Given the description of an element on the screen output the (x, y) to click on. 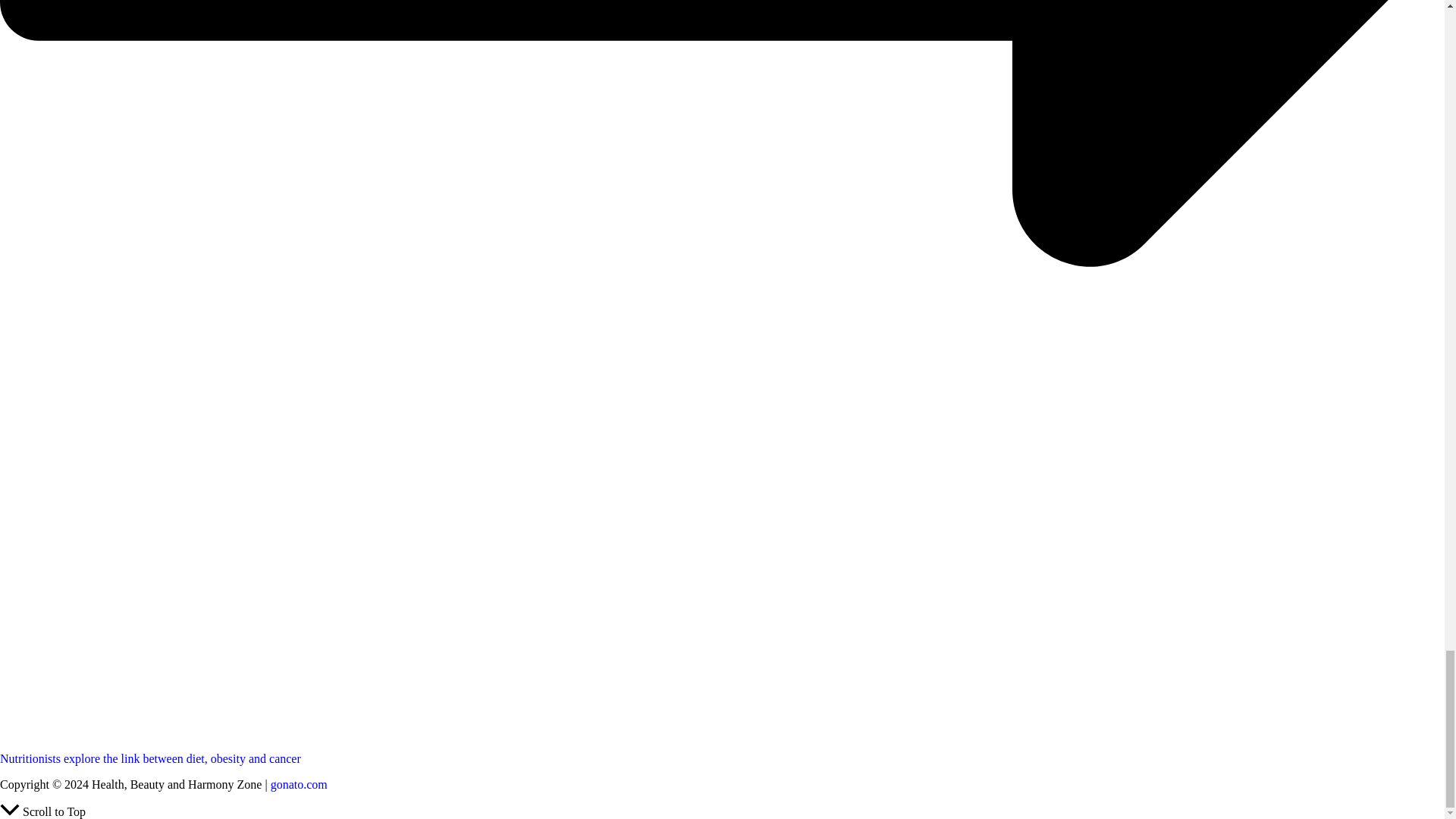
gonato.com (298, 784)
